Given the description of an element on the screen output the (x, y) to click on. 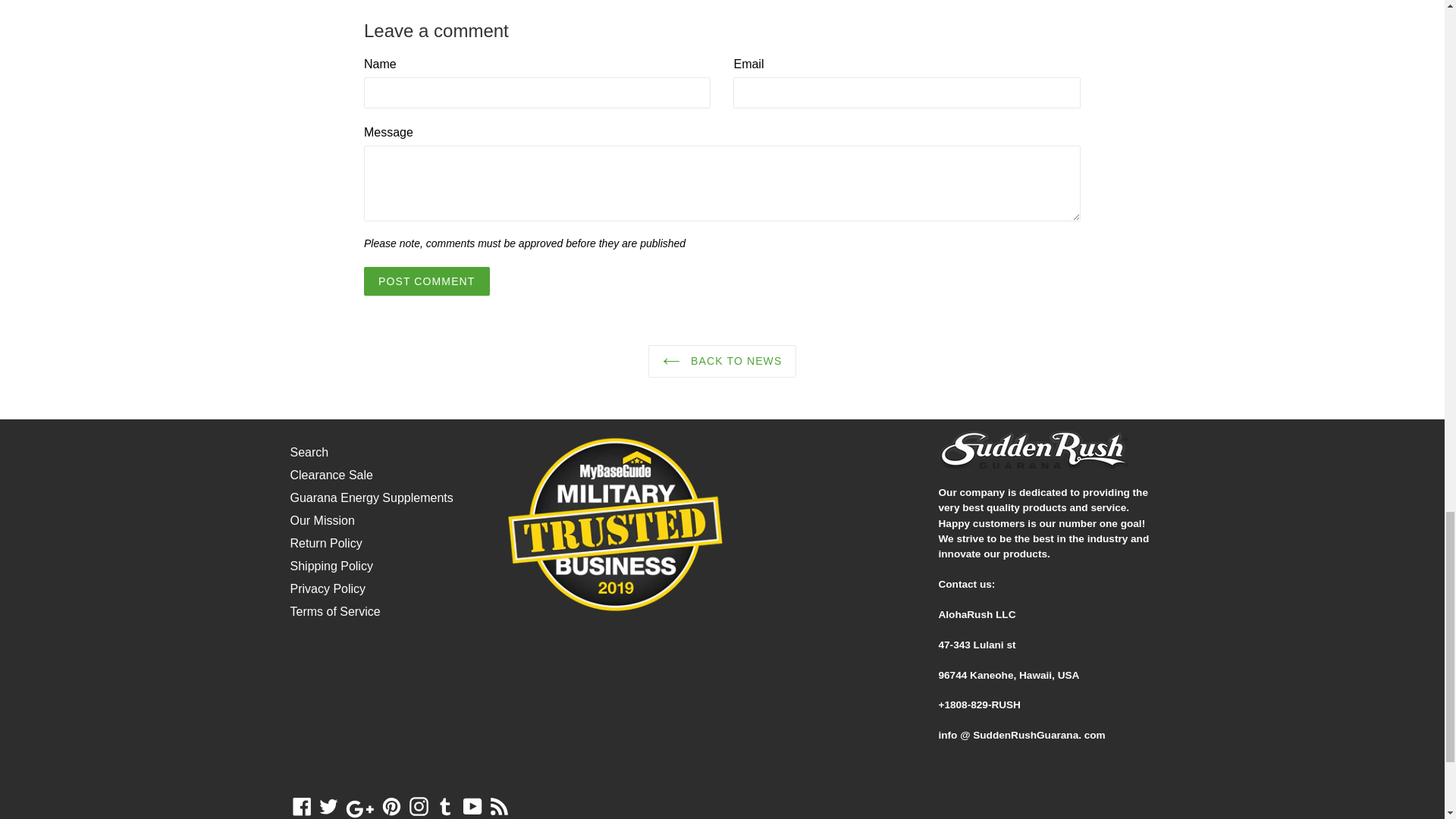
Post comment (426, 281)
SuddenRush Guarana USA on Facebook (301, 807)
SuddenRush Guarana USA on Pinterest (391, 807)
SuddenRush Guarana USA on YouTube (472, 807)
SuddenRush Guarana USA on Instagram (418, 807)
SuddenRush Guarana USA on Twitter (328, 807)
SuddenRush Guarana USA on Google (360, 808)
SuddenRush Guarana USA on Tumblr (445, 807)
